Given the description of an element on the screen output the (x, y) to click on. 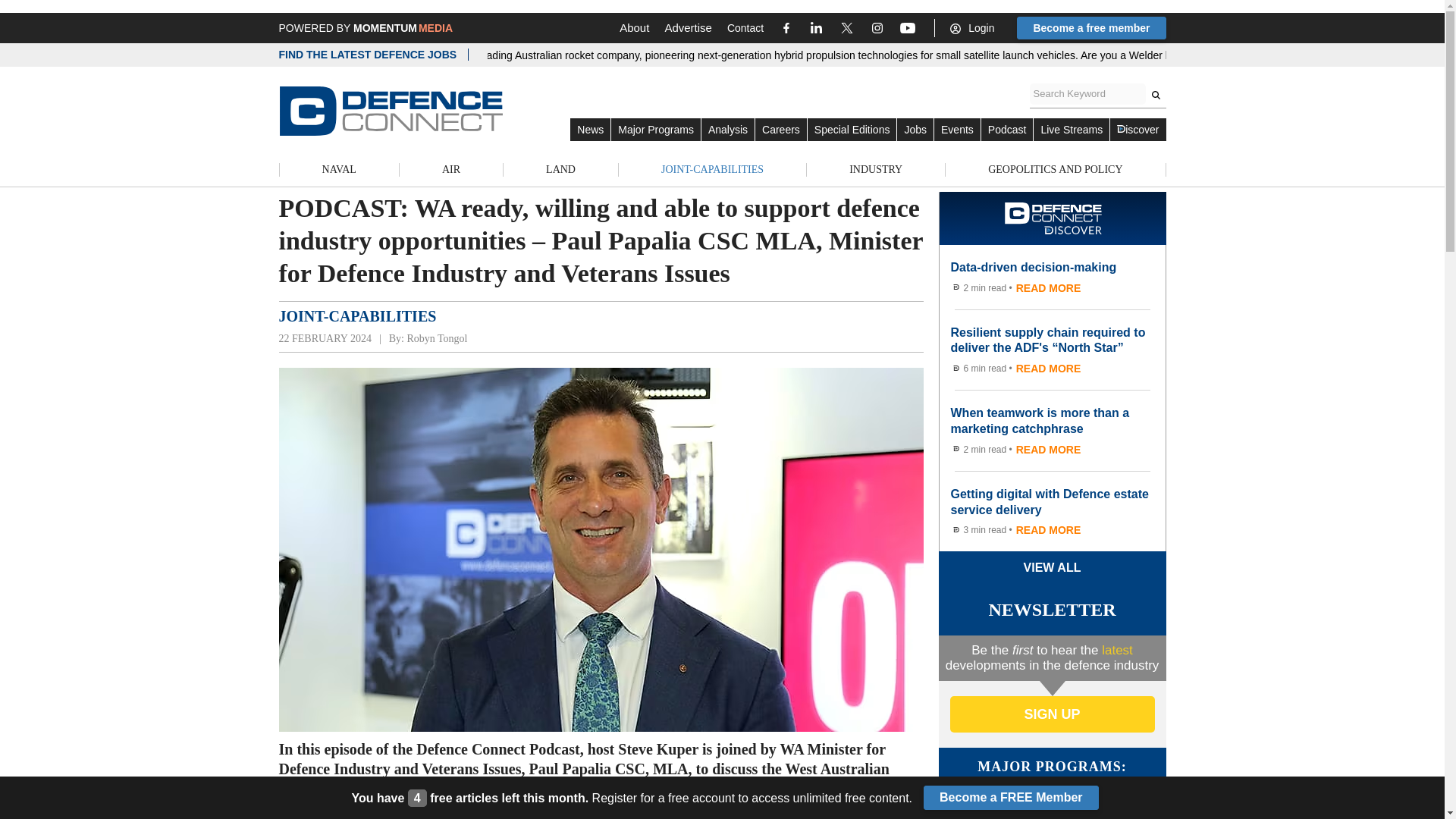
Become a FREE Member (1011, 797)
Become a free member (1091, 27)
Become a FREE Member (1011, 797)
sign up (1051, 714)
